Given the description of an element on the screen output the (x, y) to click on. 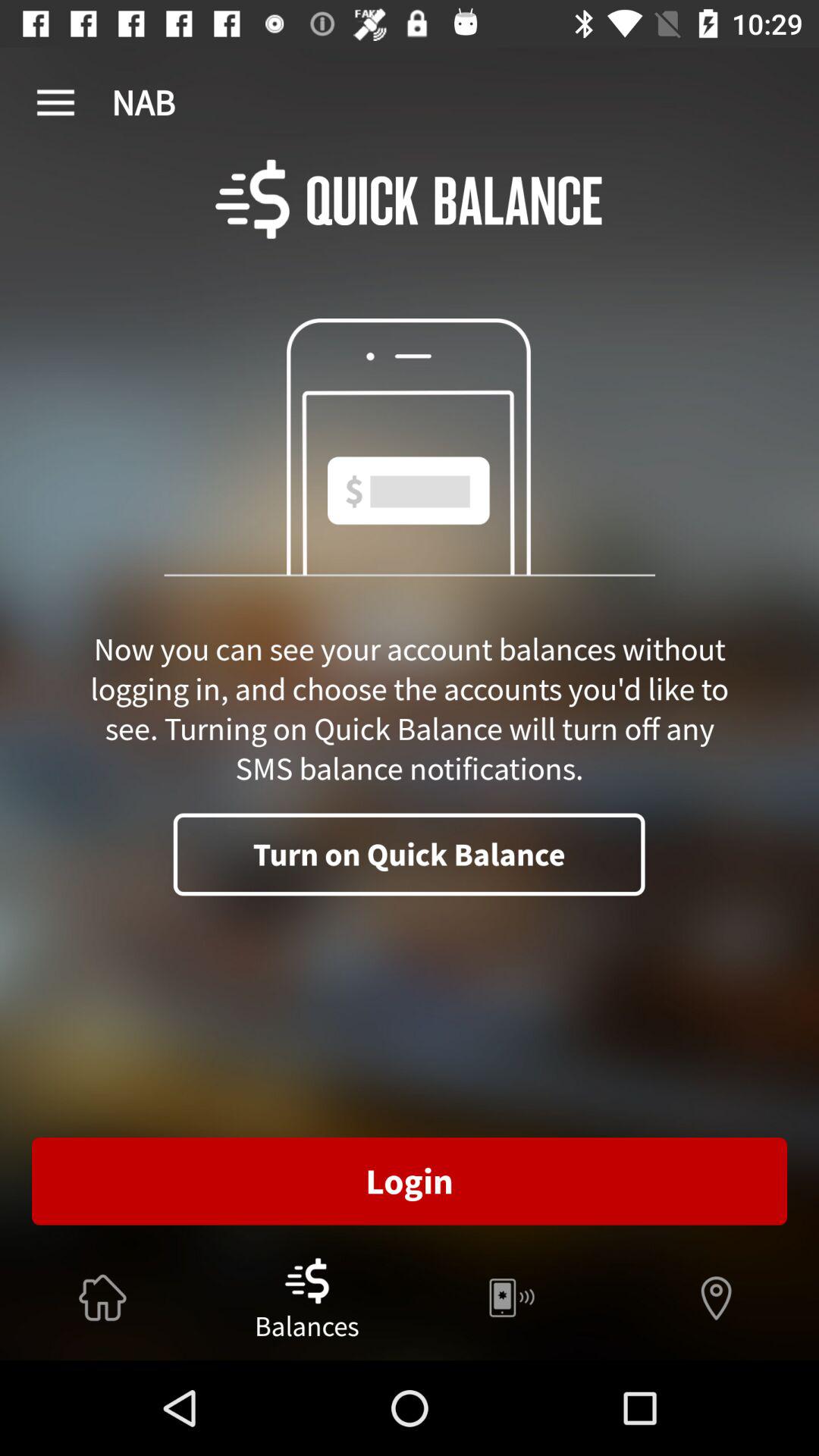
tap the icon below turn on quick icon (409, 1181)
